Given the description of an element on the screen output the (x, y) to click on. 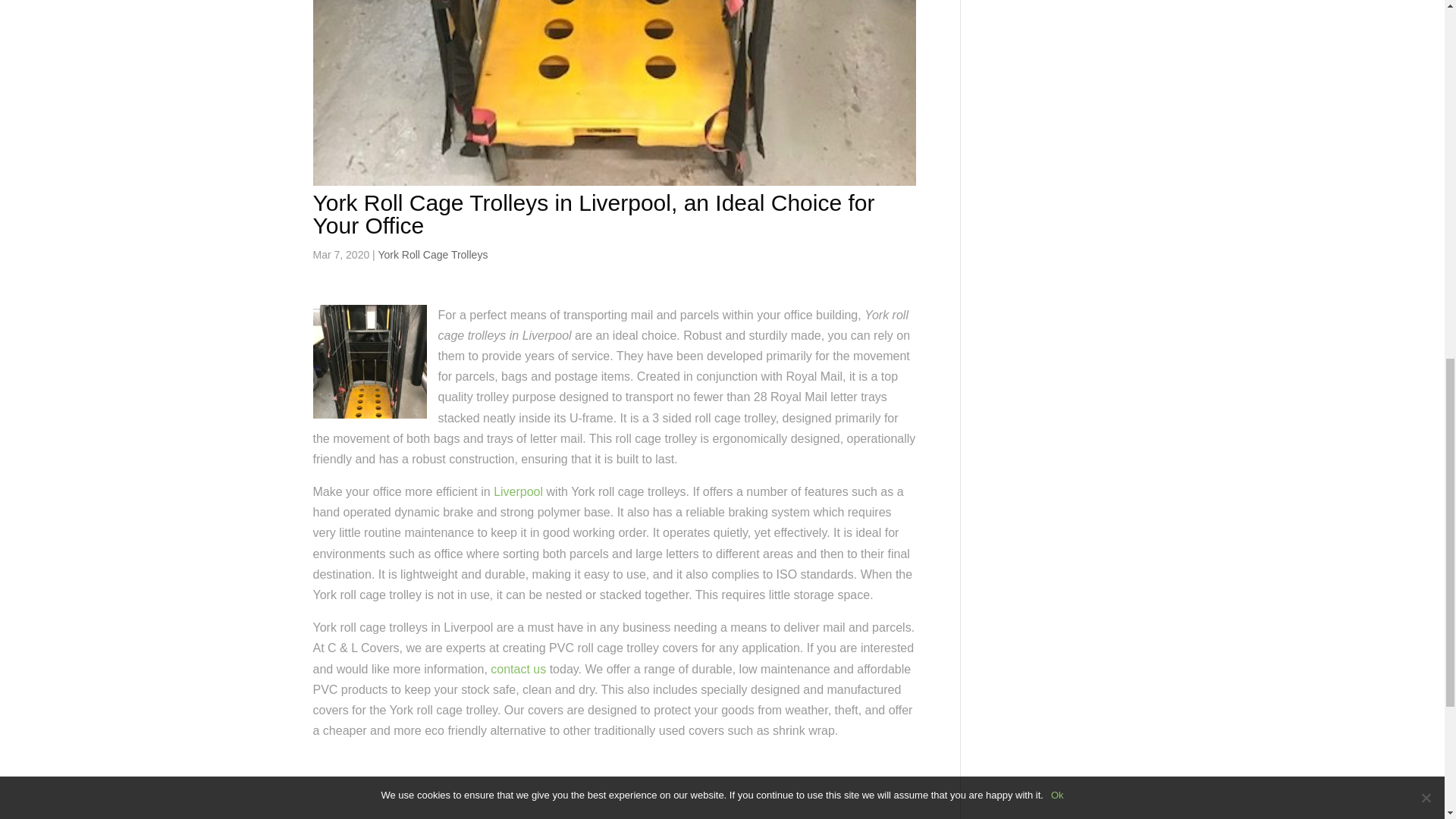
contact us (518, 668)
Liverpool (518, 491)
York Roll Cage Trolleys (432, 254)
